Given the description of an element on the screen output the (x, y) to click on. 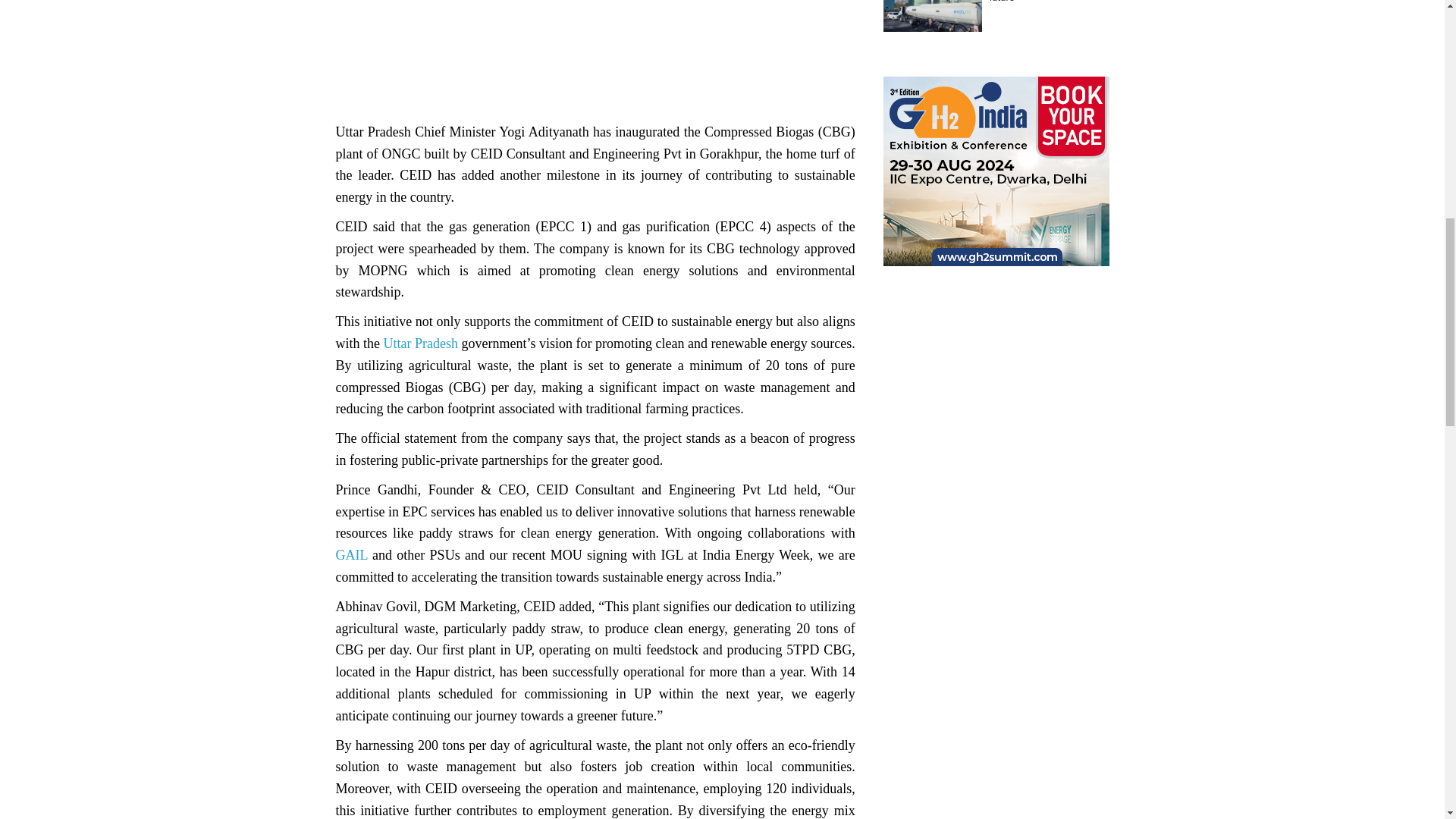
Uttar Pradesh (421, 343)
GAIL (350, 554)
